Given the description of an element on the screen output the (x, y) to click on. 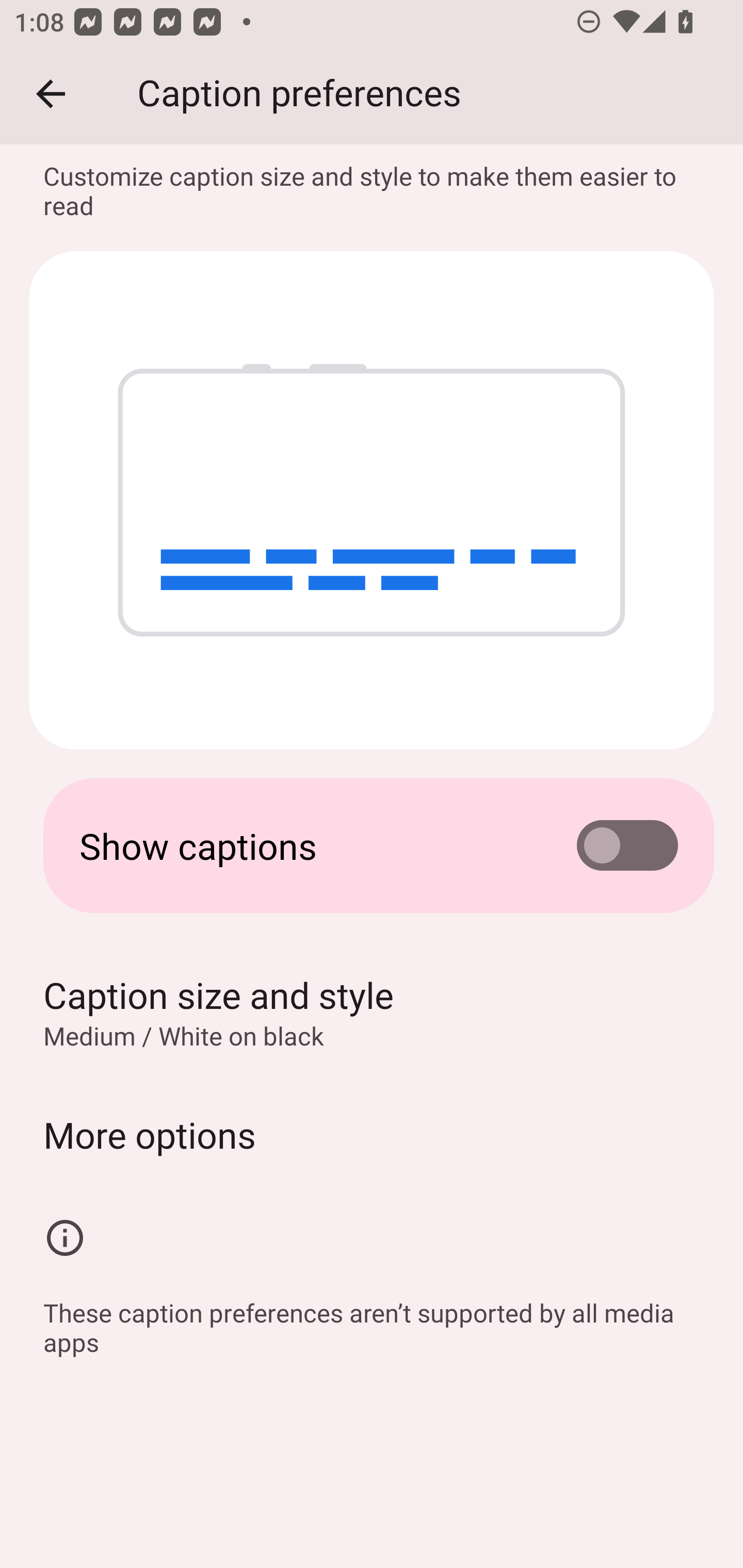
Navigate up (50, 93)
Show captions (371, 845)
Caption size and style Medium / White on black (371, 1011)
More options (371, 1133)
